Given the description of an element on the screen output the (x, y) to click on. 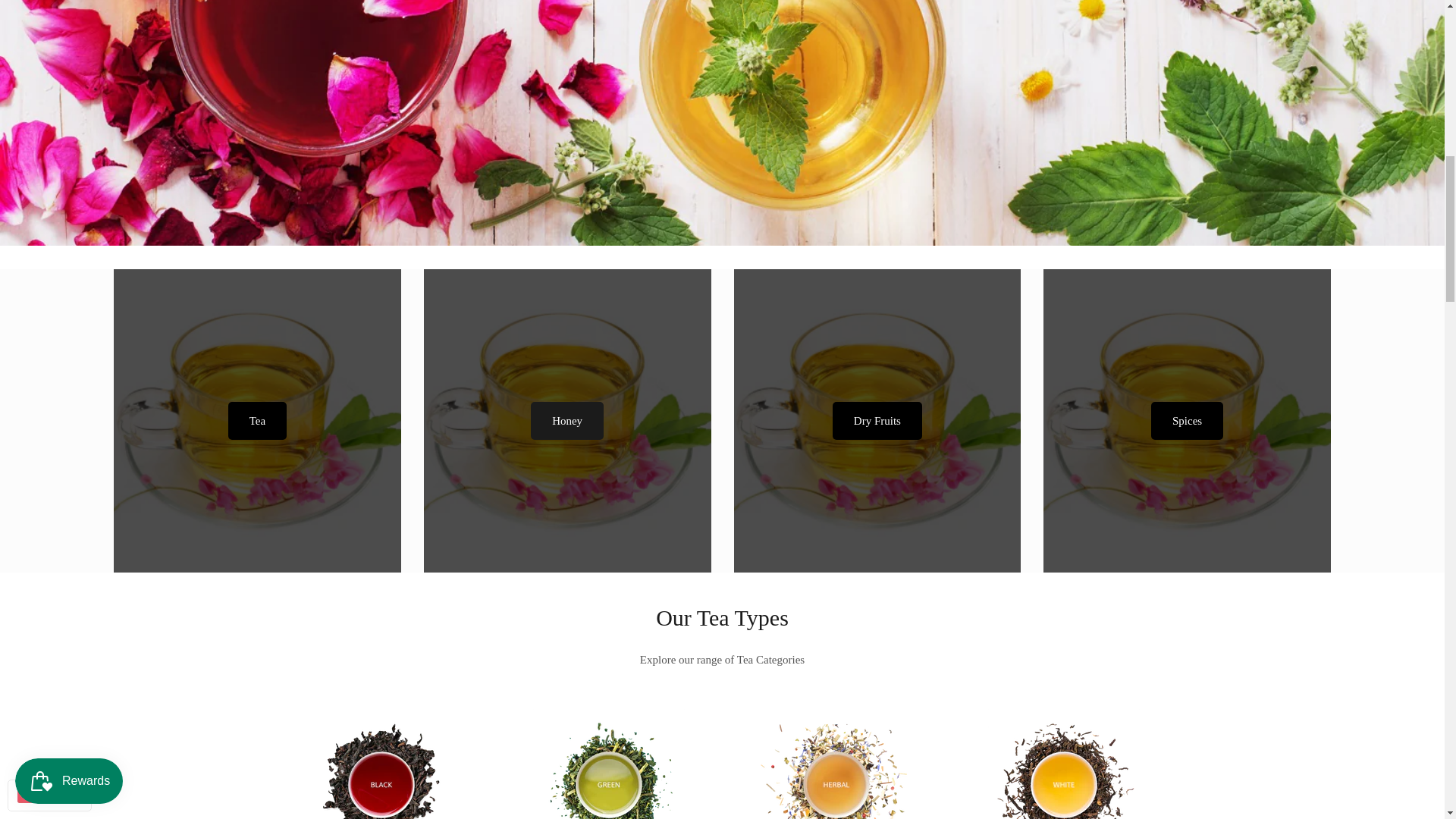
Honey (567, 420)
Dry Fruits (876, 420)
Tea (257, 420)
Spices (1187, 420)
